Given the description of an element on the screen output the (x, y) to click on. 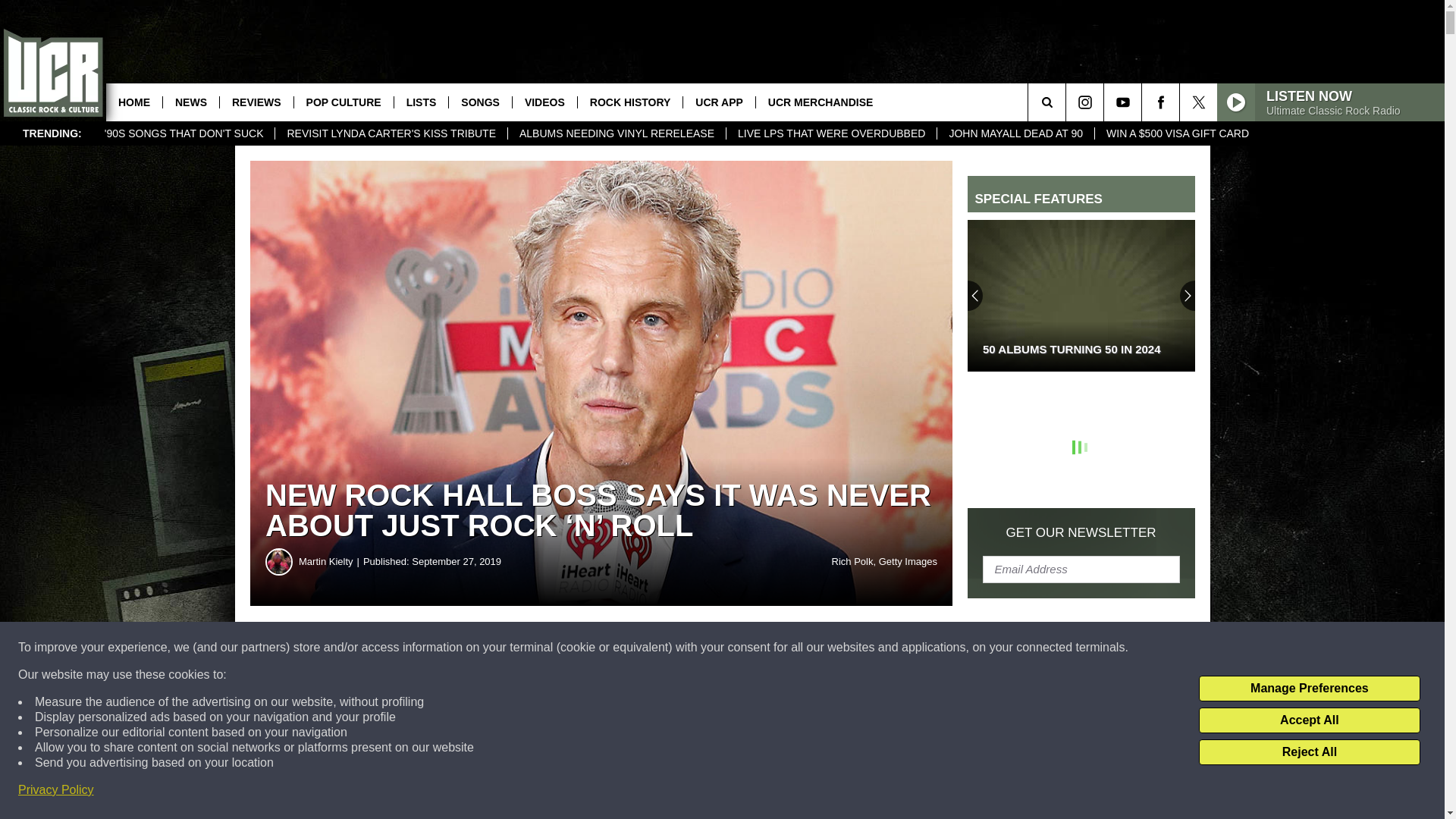
Email Address (1080, 568)
Visit us on Twitter (1198, 102)
ROCK HISTORY (629, 102)
UCR MERCHANDISE (820, 102)
'90S SONGS THAT DON'T SUCK (184, 133)
Visit us on Instagram (1084, 102)
TWEET (741, 647)
TRENDING: (52, 133)
Martin Kielty (330, 561)
Visit us on Youtube (1122, 102)
Visit us on Facebook (1160, 102)
POP CULTURE (343, 102)
NEWS (190, 102)
Privacy Policy (55, 789)
LIVE LPS THAT WERE OVERDUBBED (830, 133)
